Given the description of an element on the screen output the (x, y) to click on. 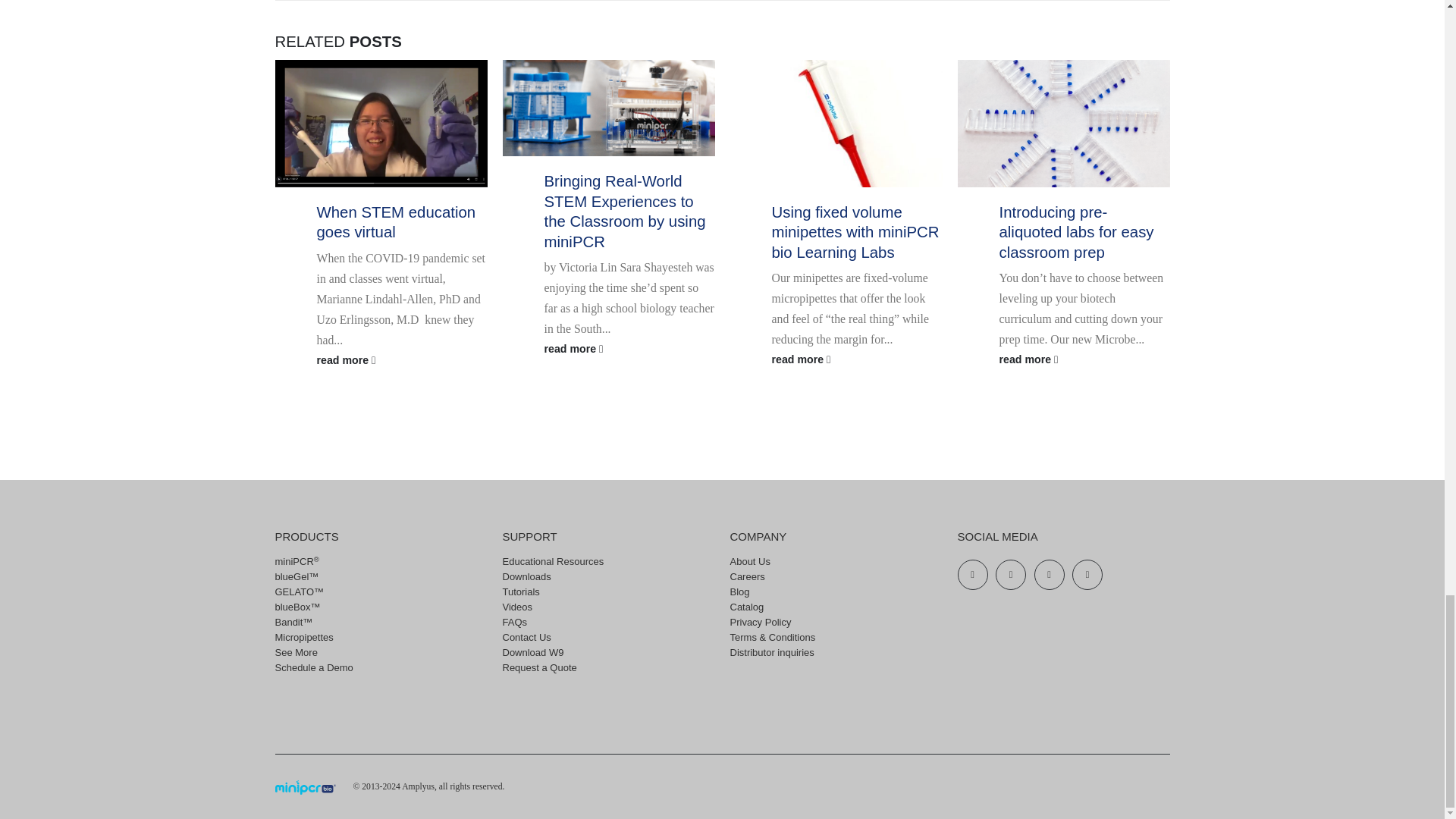
Facebook (971, 574)
Youtube (1048, 574)
miniPCR bio - Biotech tools for your lab or classroom (304, 786)
Instagram (1086, 574)
Twitter (1010, 574)
